Given the description of an element on the screen output the (x, y) to click on. 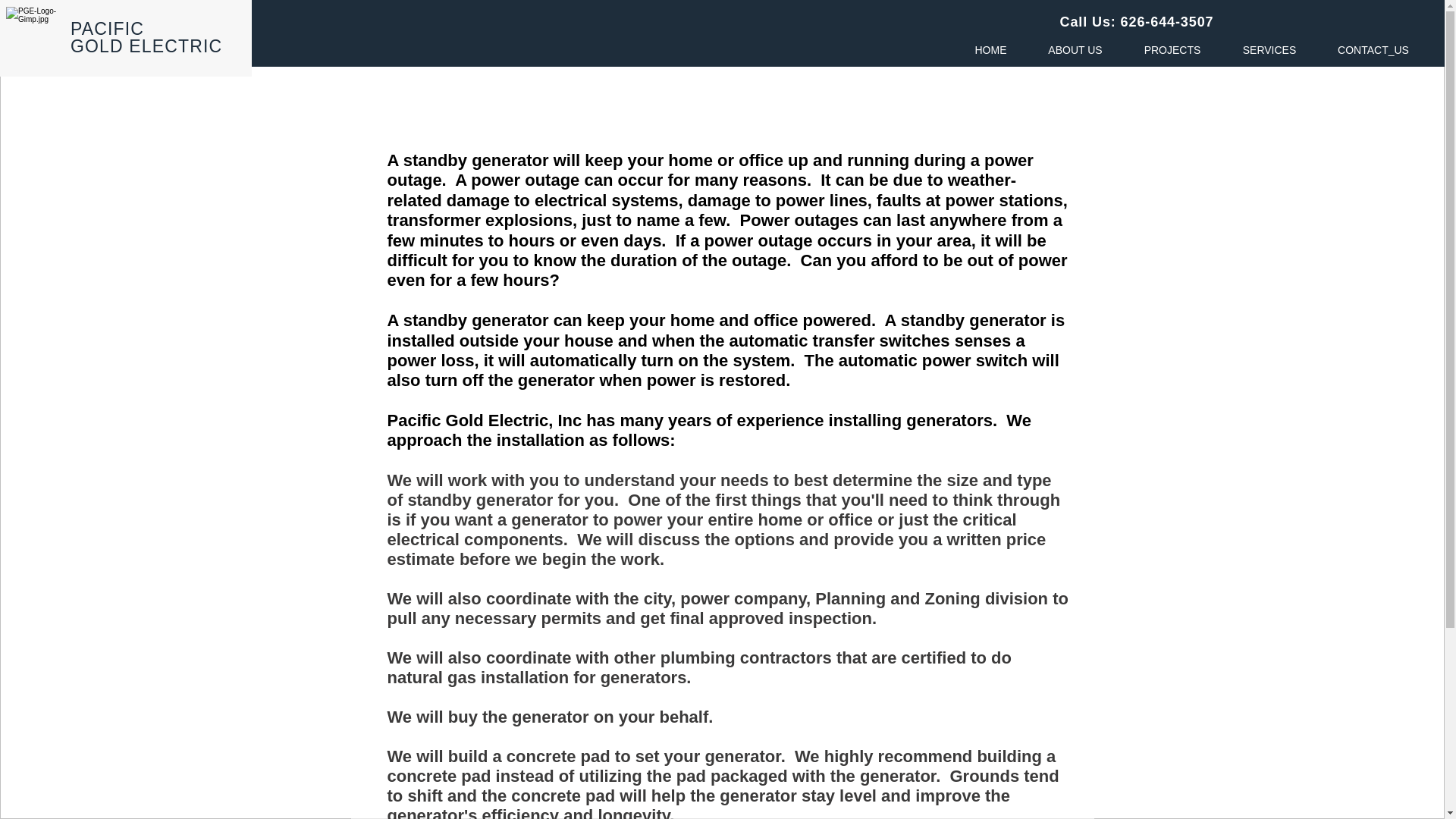
PACIFIC (106, 28)
HOME (990, 50)
ABOUT US (1074, 50)
SERVICES (1269, 50)
PROJECTS (1171, 50)
